Given the description of an element on the screen output the (x, y) to click on. 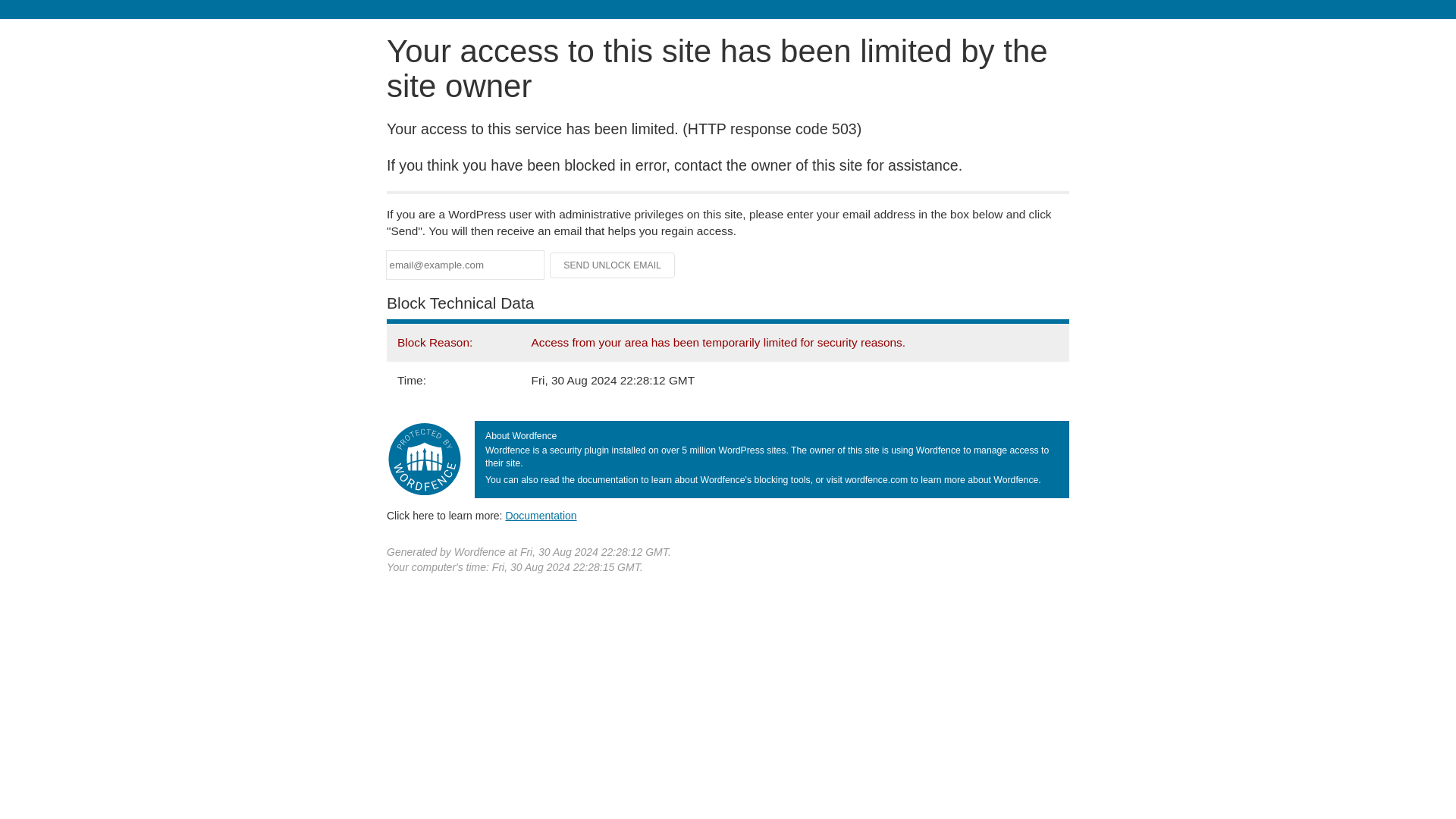
Send Unlock Email (612, 265)
Send Unlock Email (612, 265)
Documentation (540, 515)
